Given the description of an element on the screen output the (x, y) to click on. 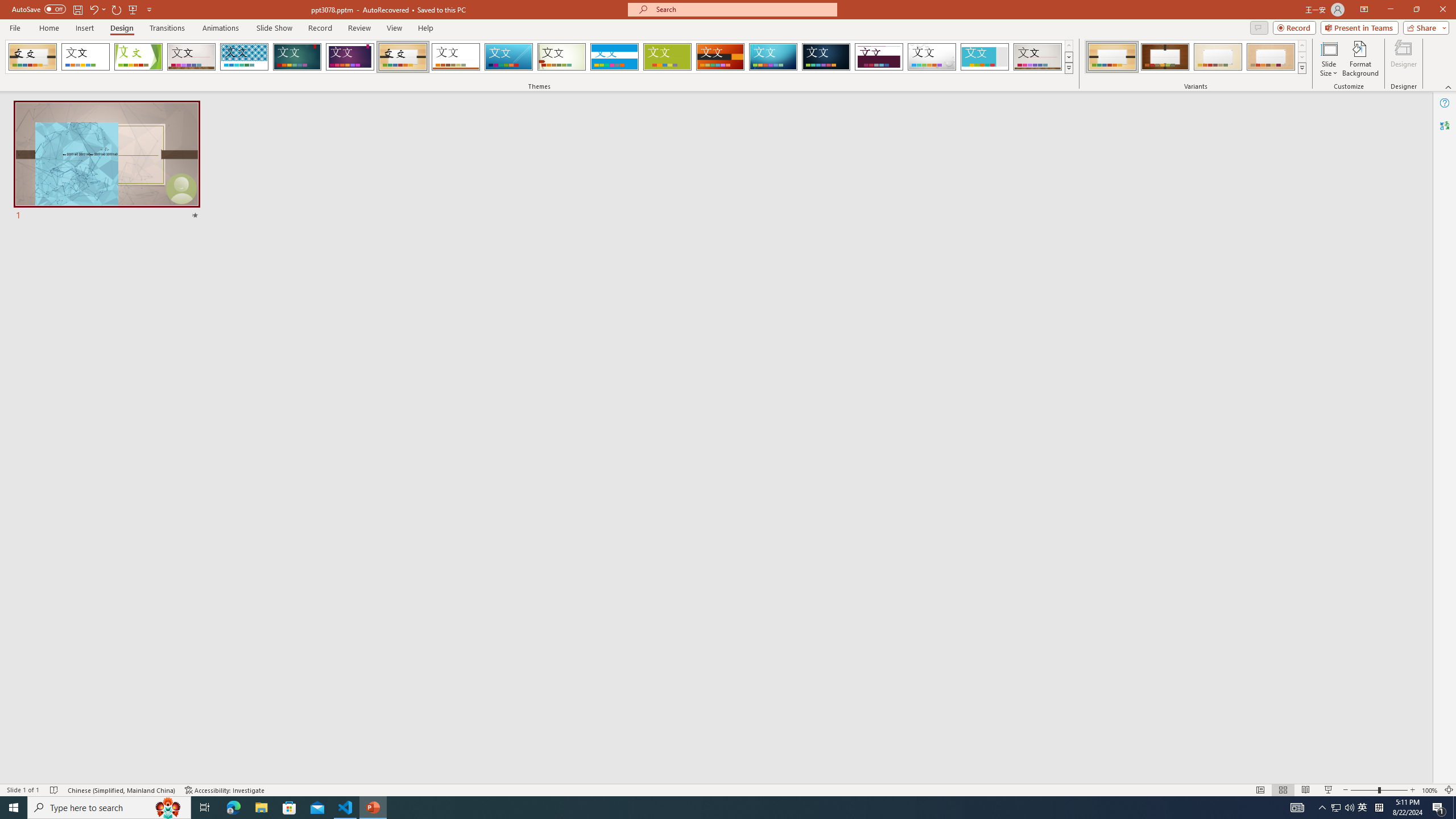
Integral (244, 56)
Berlin (720, 56)
Circuit (772, 56)
Facet (138, 56)
